Given the description of an element on the screen output the (x, y) to click on. 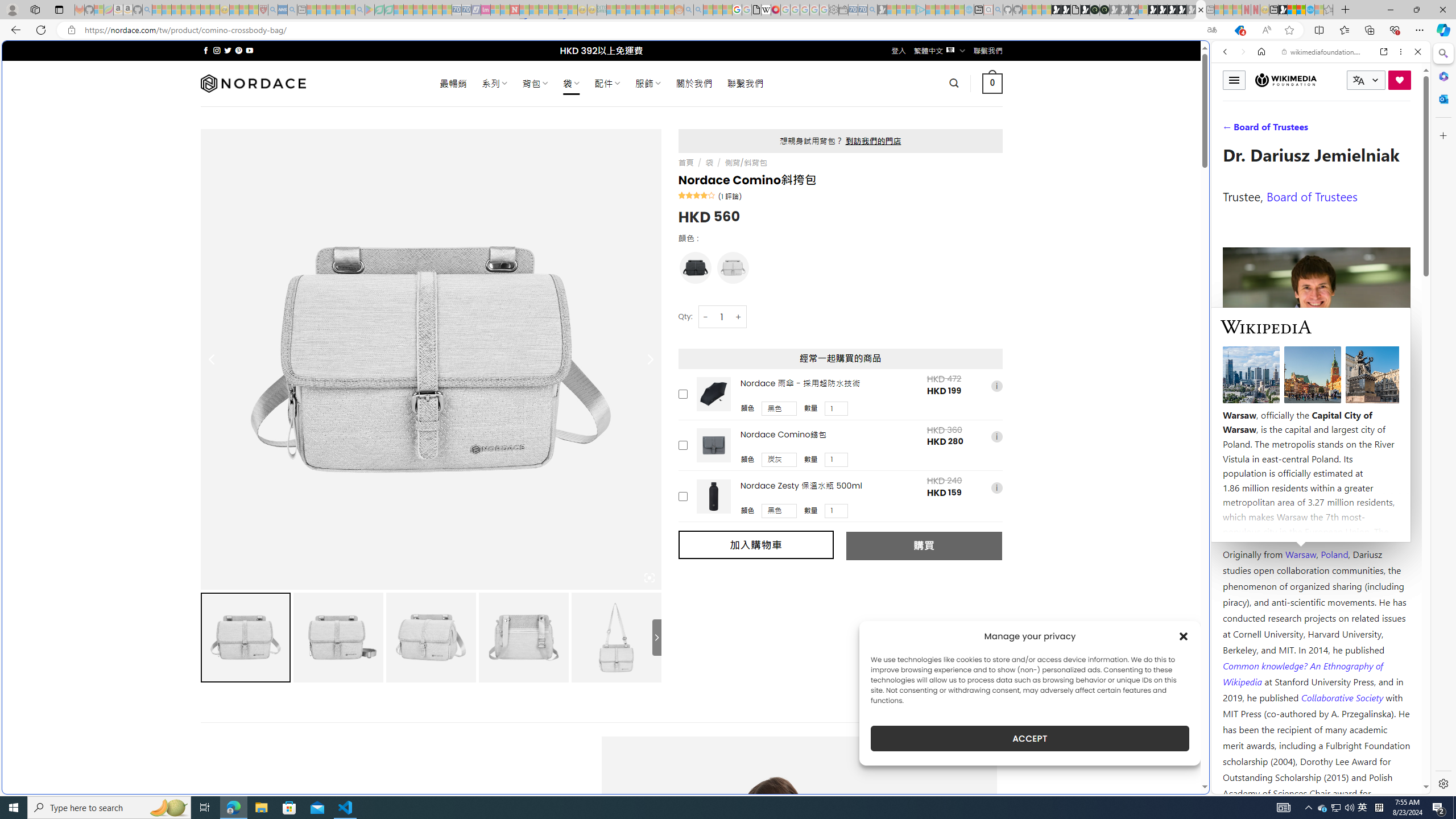
 0  (992, 83)
  0   (992, 83)
Donate now (1399, 80)
Class: iconic-woothumbs-fullscreen (649, 577)
